Given the description of an element on the screen output the (x, y) to click on. 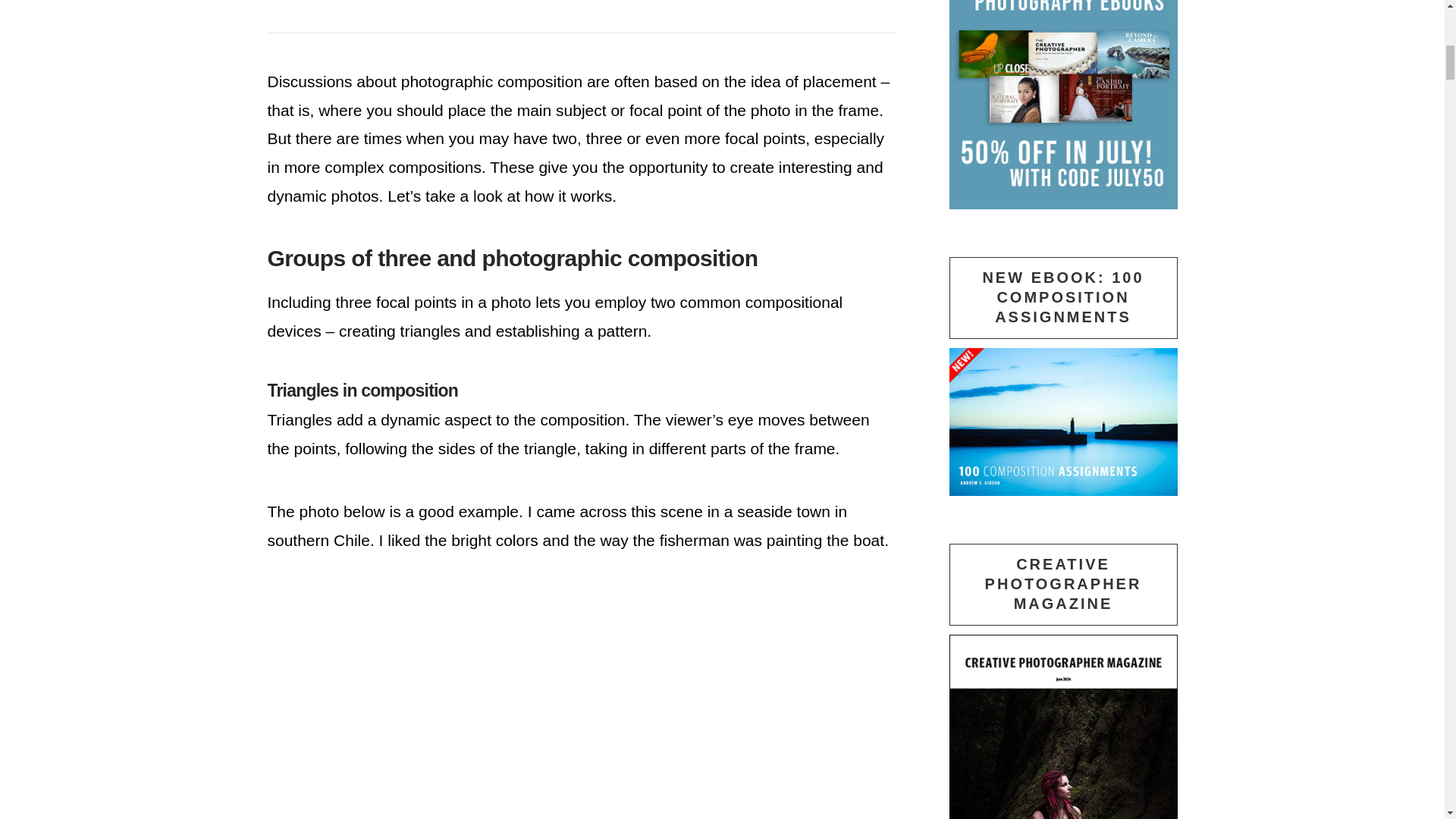
Creative Photographer Magazine (1063, 726)
